Given the description of an element on the screen output the (x, y) to click on. 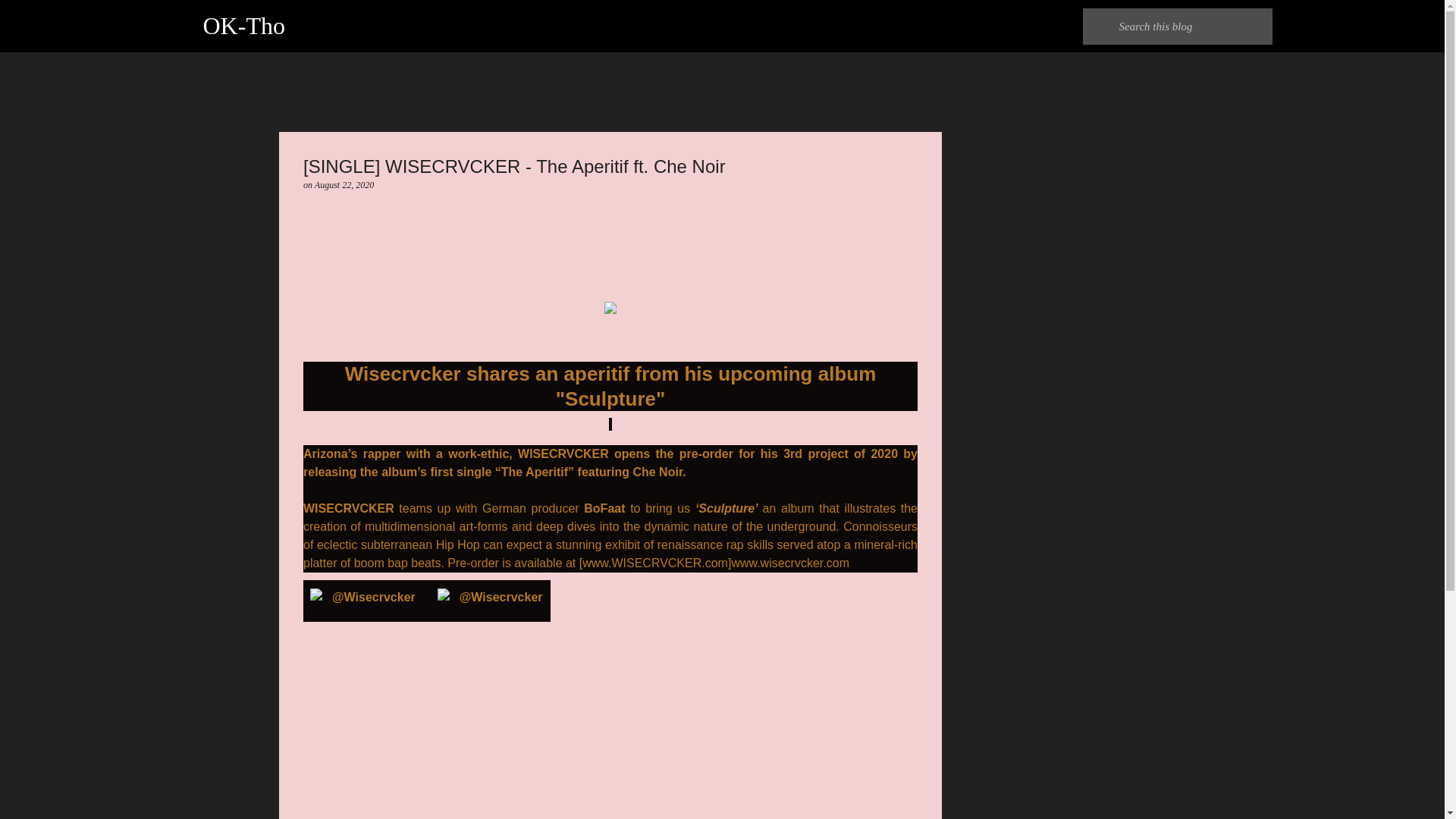
August 22, 2020 (344, 184)
OK-Tho (244, 25)
permanent link (344, 184)
